Given the description of an element on the screen output the (x, y) to click on. 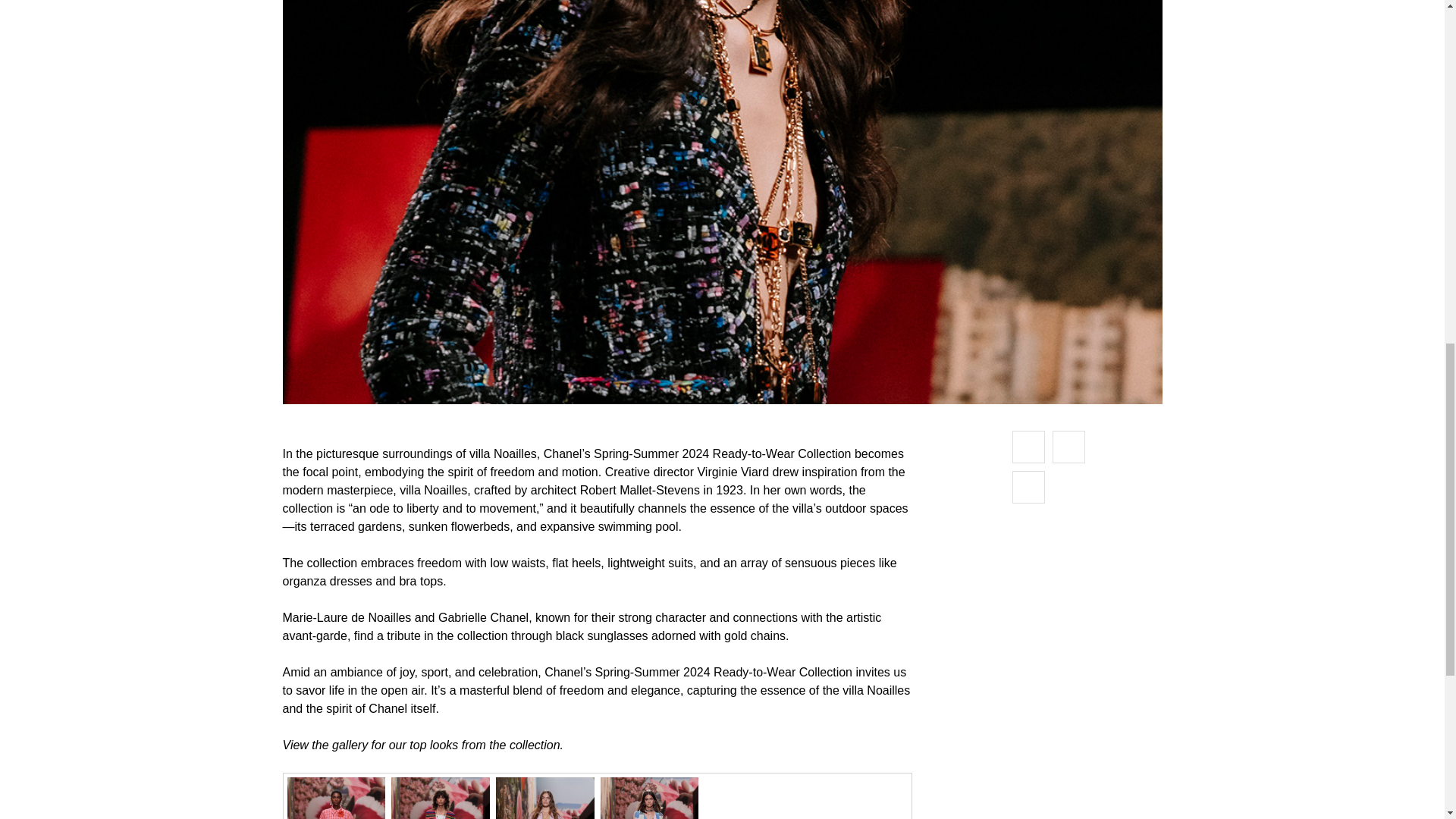
Virginie Viard (732, 472)
